Given the description of an element on the screen output the (x, y) to click on. 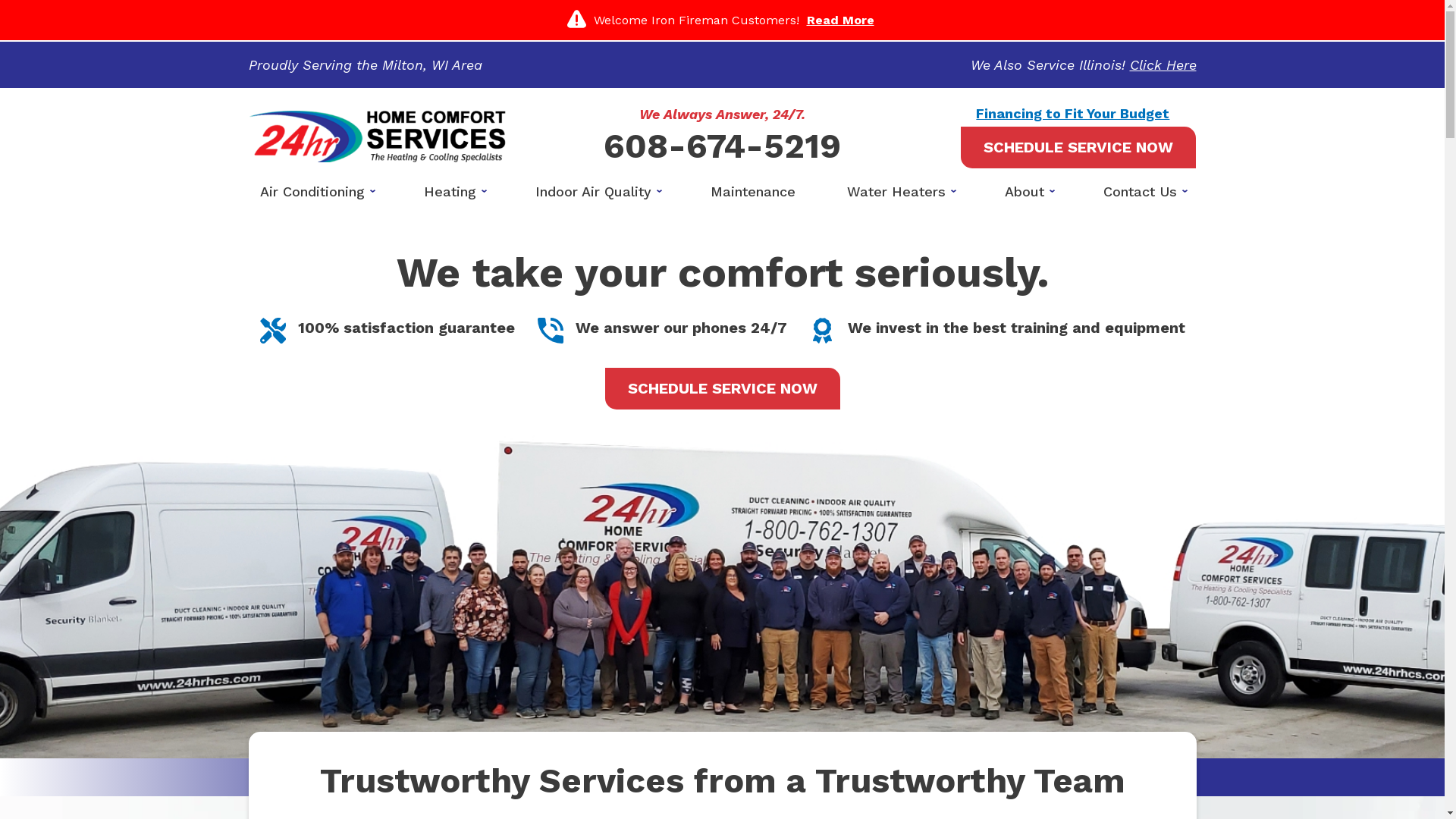
Maintenance Element type: text (752, 191)
SCHEDULE SERVICE NOW Element type: text (722, 388)
SCHEDULE SERVICE NOW Element type: text (1077, 147)
Contact Us Element type: text (1143, 191)
Read More Element type: text (839, 19)
Air Conditioning Element type: text (315, 191)
Click Here Element type: text (1162, 64)
Financing to Fit Your Budget Element type: text (1072, 113)
608-674-5219 Element type: text (721, 145)
Heating Element type: text (453, 191)
Indoor Air Quality Element type: text (597, 191)
Water Heaters Element type: text (899, 191)
About Element type: text (1028, 191)
